Given the description of an element on the screen output the (x, y) to click on. 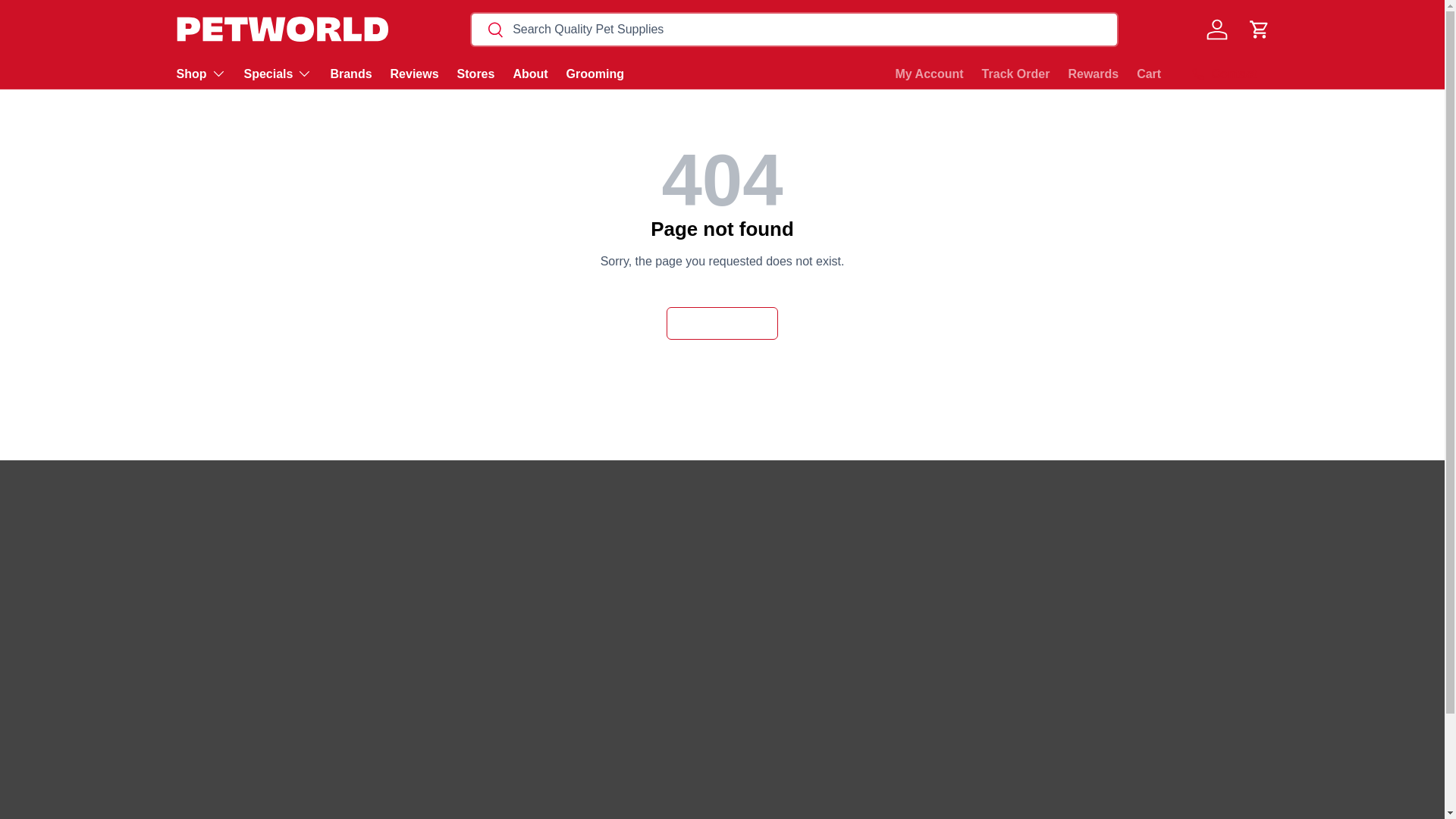
Skip to content (68, 21)
Search (486, 30)
Log in (1216, 28)
Shop (200, 73)
Cart (1258, 28)
